Given the description of an element on the screen output the (x, y) to click on. 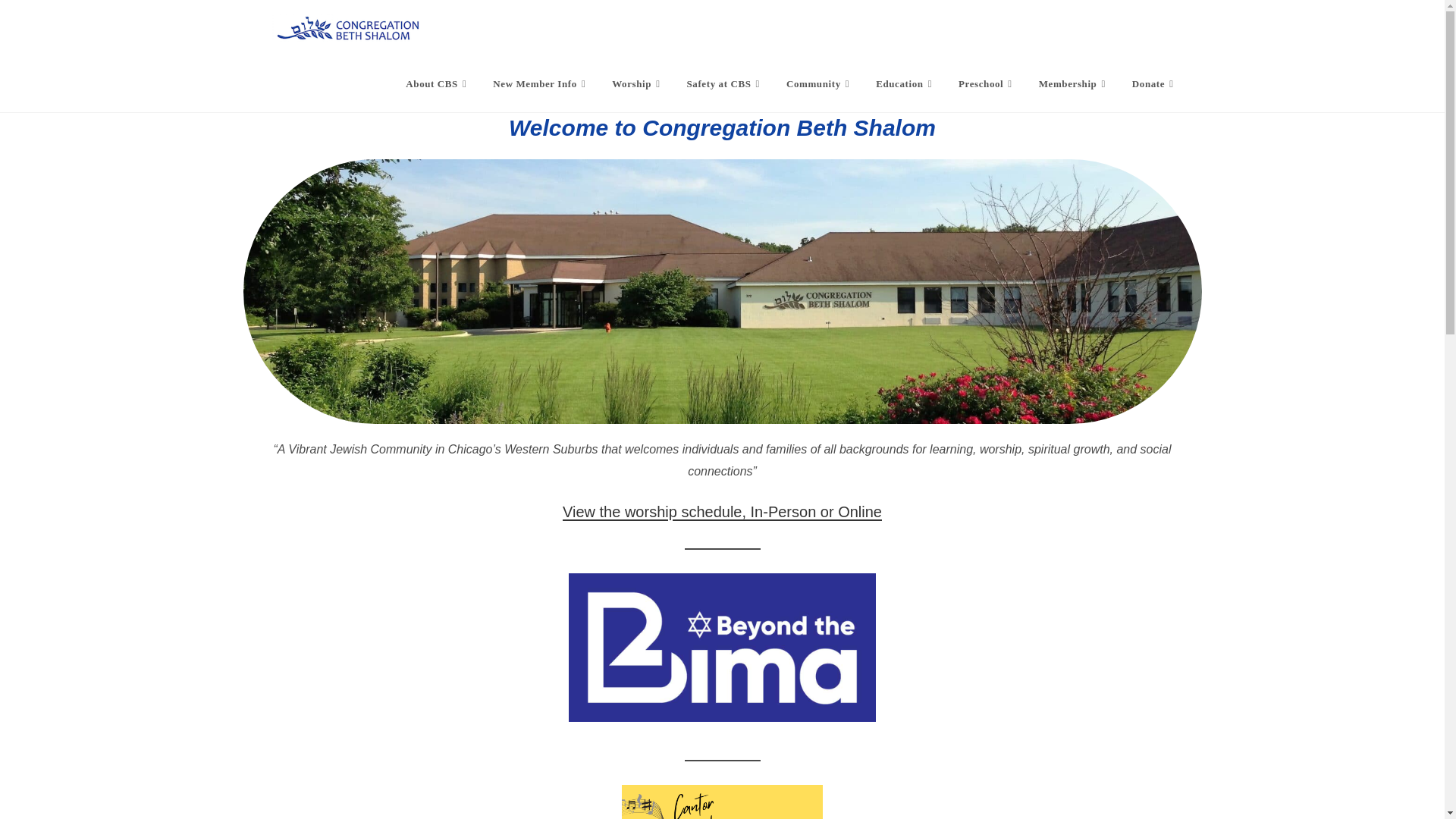
About CBS (437, 84)
New Member Info (540, 84)
Worship (637, 84)
